Given the description of an element on the screen output the (x, y) to click on. 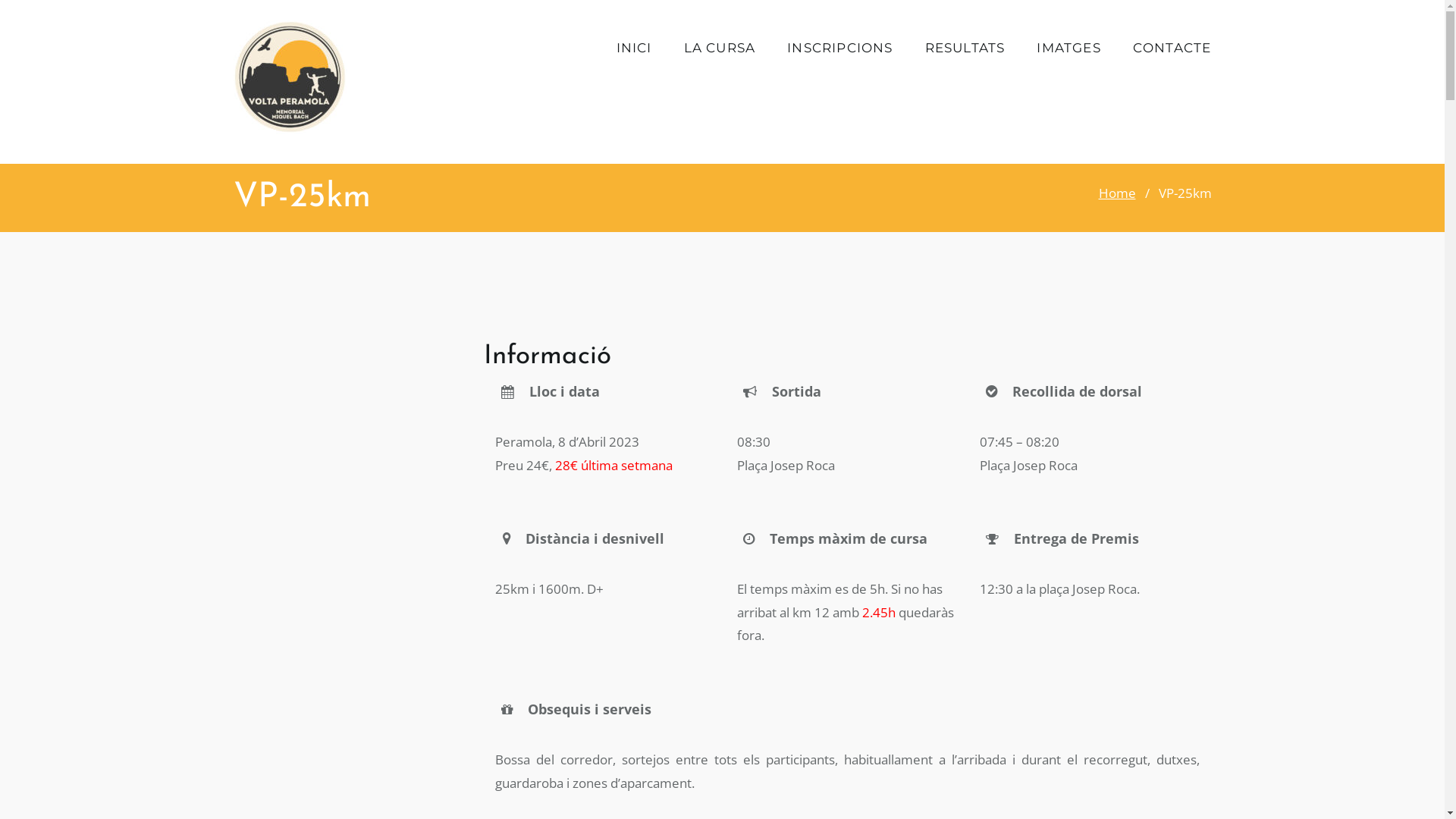
IMATGES Element type: text (1068, 45)
CONTACTE Element type: text (1171, 45)
Volta Peramola Element type: hover (290, 77)
INICI Element type: text (634, 45)
RESULTATS Element type: text (965, 45)
Home Element type: text (1116, 192)
LA CURSA Element type: text (720, 45)
INSCRIPCIONS Element type: text (839, 45)
